Given the description of an element on the screen output the (x, y) to click on. 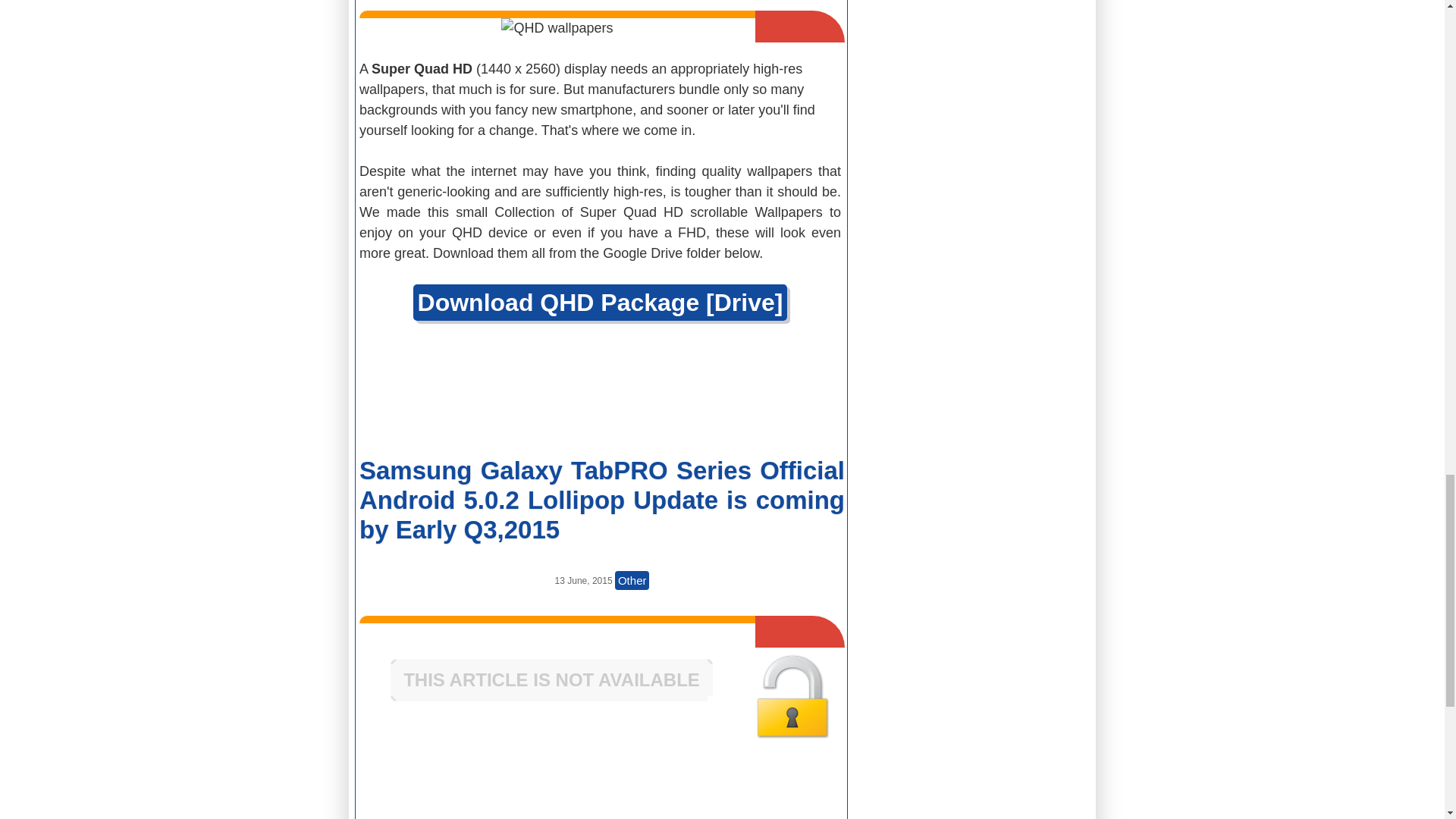
Share This Article on Twitter (760, 394)
Share This Article on Twitter (760, 791)
QHD wallpapers (556, 28)
Share This Article on Facebook (440, 394)
Share This Article on Facebook (440, 791)
